Given the description of an element on the screen output the (x, y) to click on. 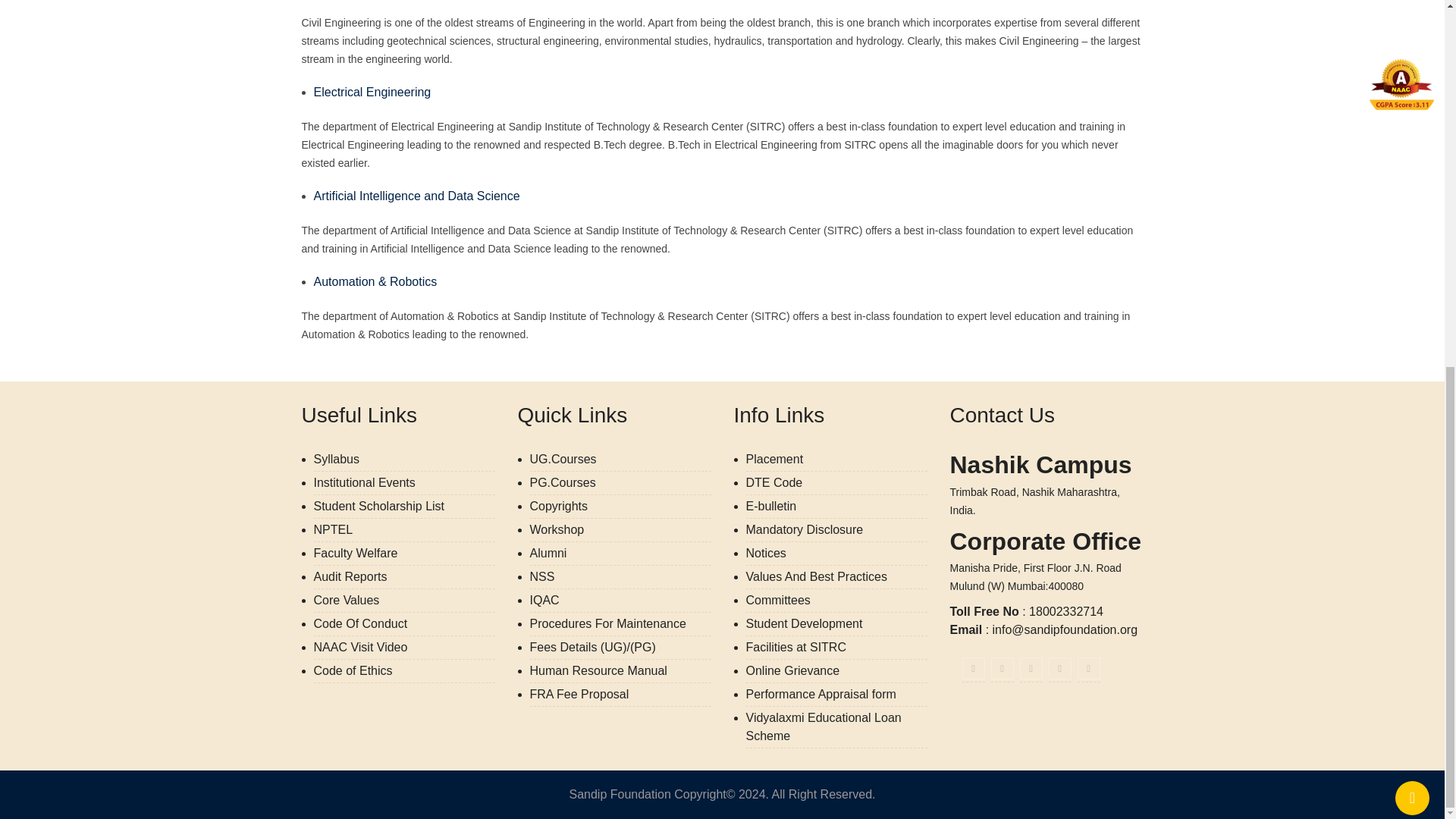
Syllabus (336, 459)
Electrical-Engineering (376, 281)
Electrical-Engineering (416, 195)
Electrical-Engineering (372, 91)
Publication (770, 505)
